Given the description of an element on the screen output the (x, y) to click on. 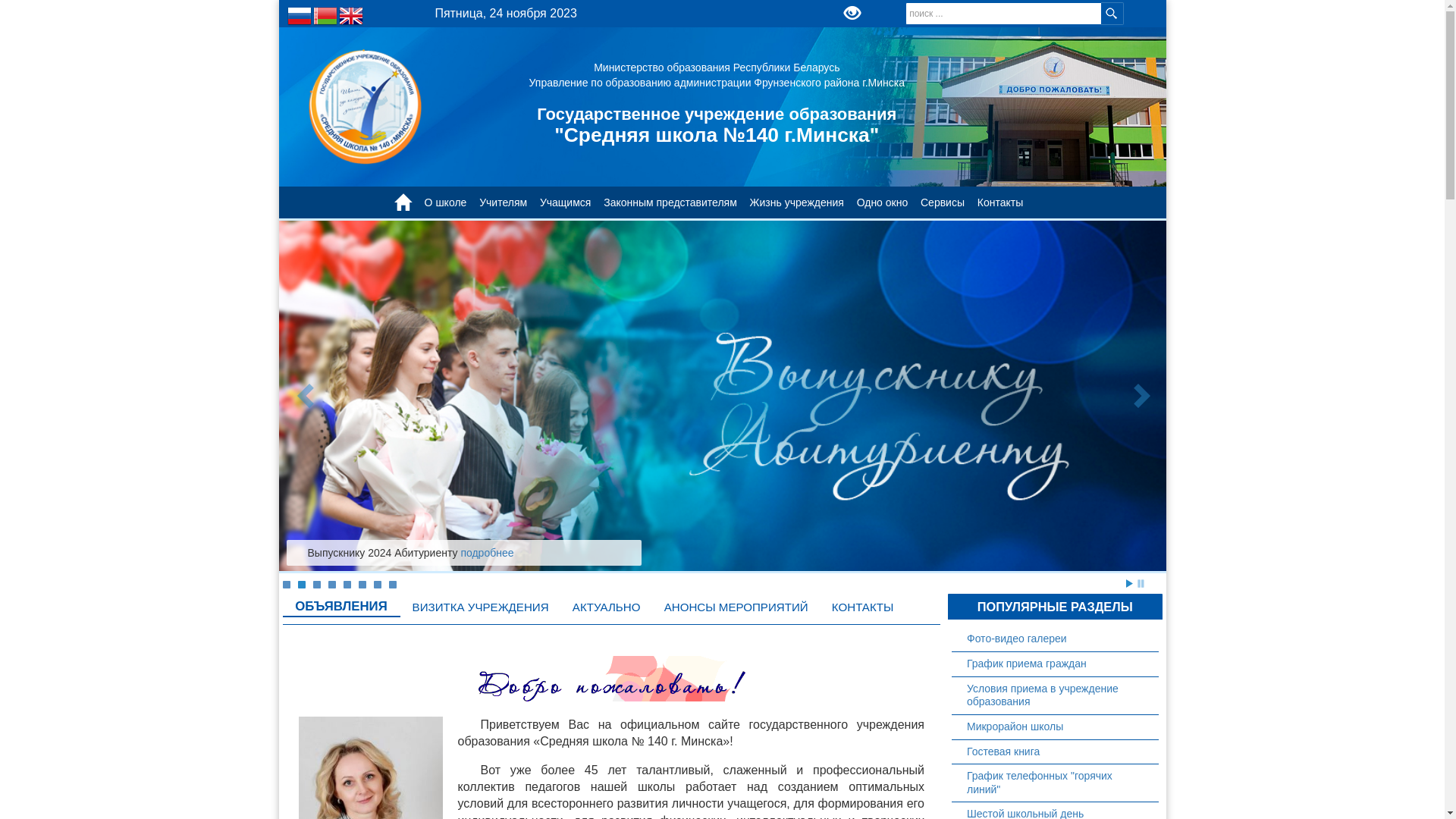
3 Element type: text (316, 584)
5 Element type: text (346, 584)
2 Element type: text (300, 584)
1 Element type: text (285, 584)
7 Element type: text (376, 584)
6 Element type: text (361, 584)
8 Element type: text (391, 584)
4 Element type: text (331, 584)
